Given the description of an element on the screen output the (x, y) to click on. 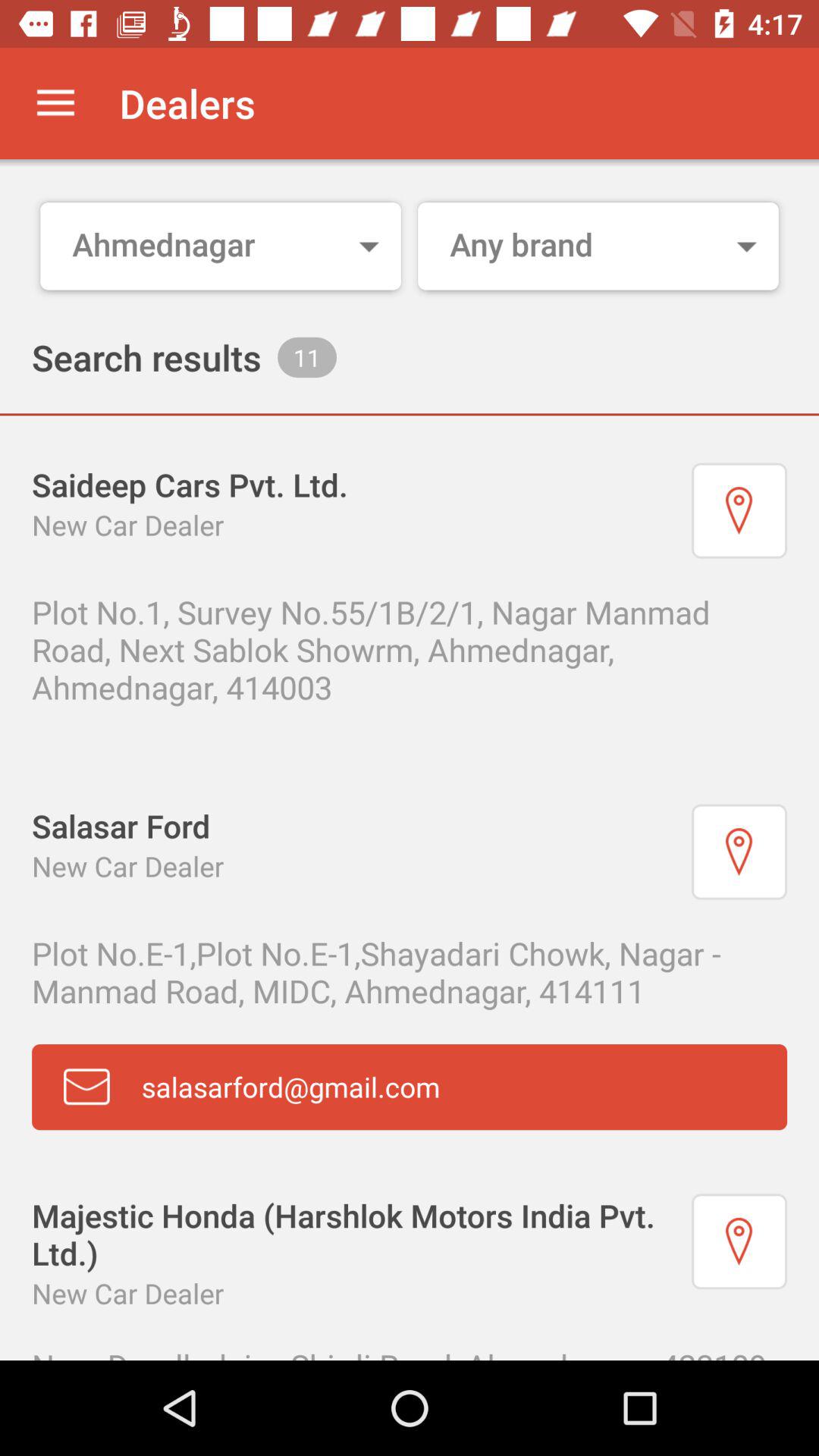
show on maps (739, 851)
